Given the description of an element on the screen output the (x, y) to click on. 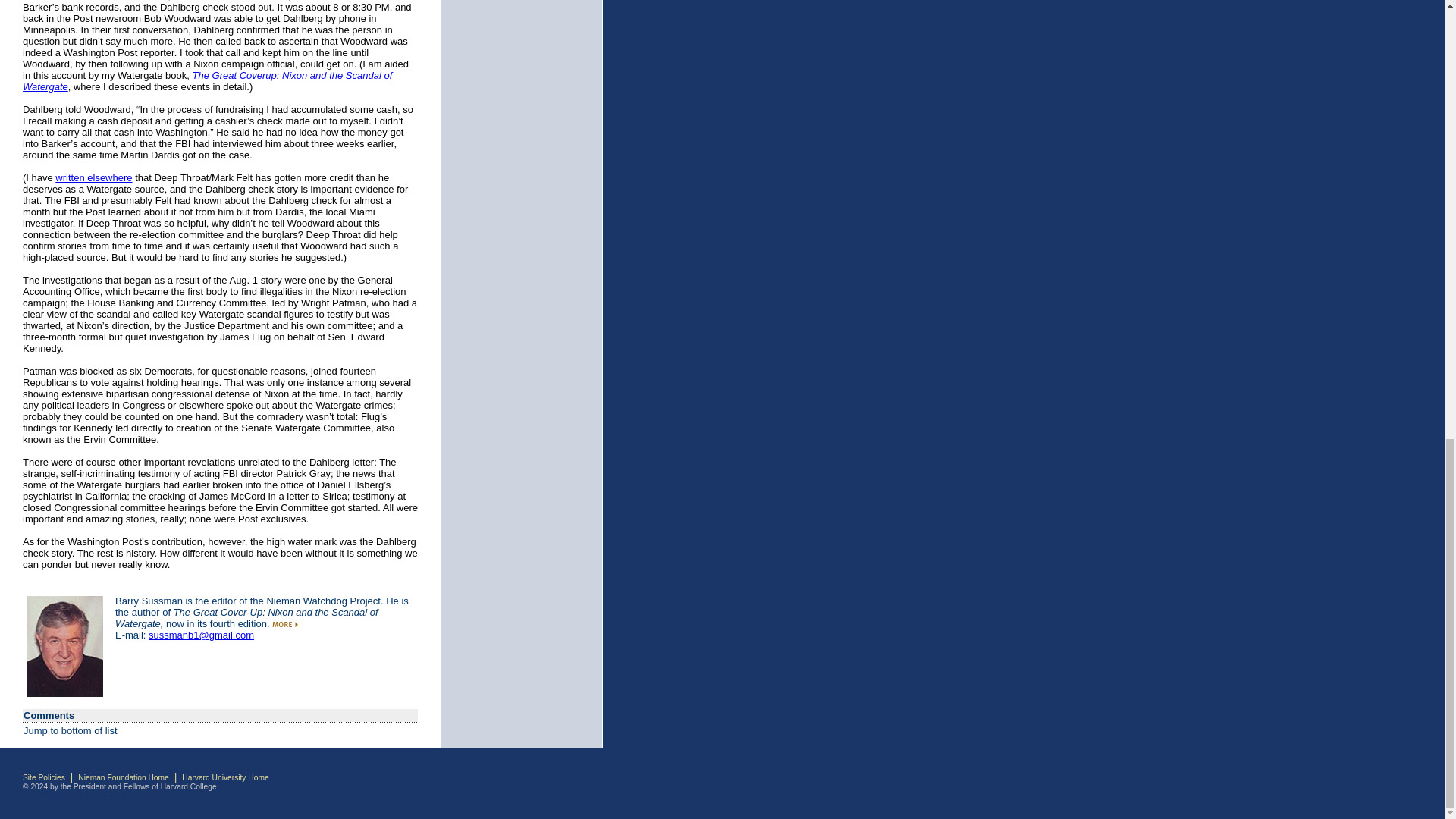
Nieman Foundation Home (123, 777)
Site Policies (44, 777)
written elsewhere (93, 177)
The Great Coverup: Nixon and the Scandal of Watergate (207, 80)
Jump to bottom of list (70, 730)
Harvard University Home (224, 777)
